Given the description of an element on the screen output the (x, y) to click on. 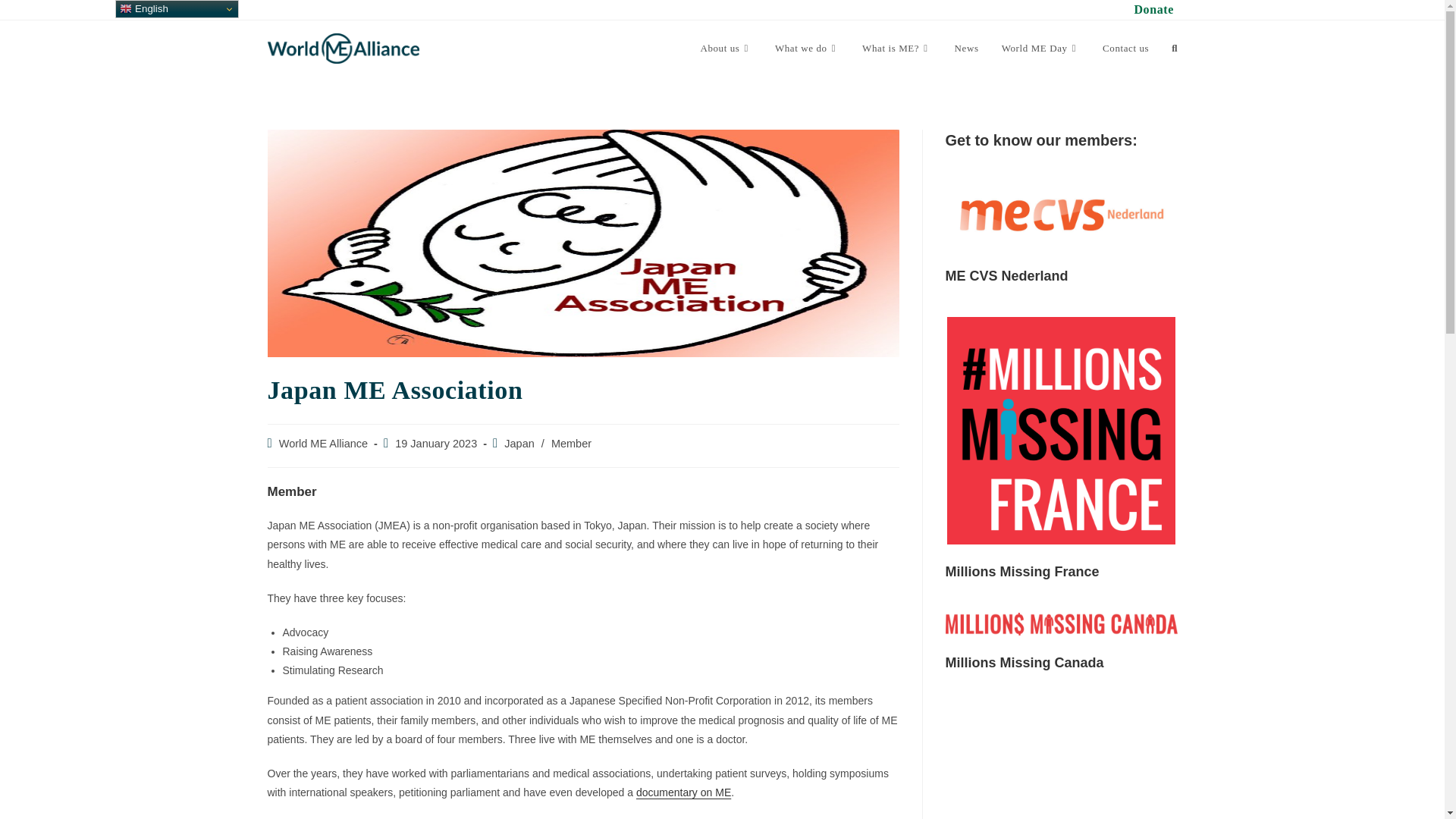
Posts by World ME Alliance (323, 443)
About us (725, 48)
World ME Day (1040, 48)
Donate (1153, 9)
What is ME? (896, 48)
Contact us (1125, 48)
What we do (806, 48)
